Given the description of an element on the screen output the (x, y) to click on. 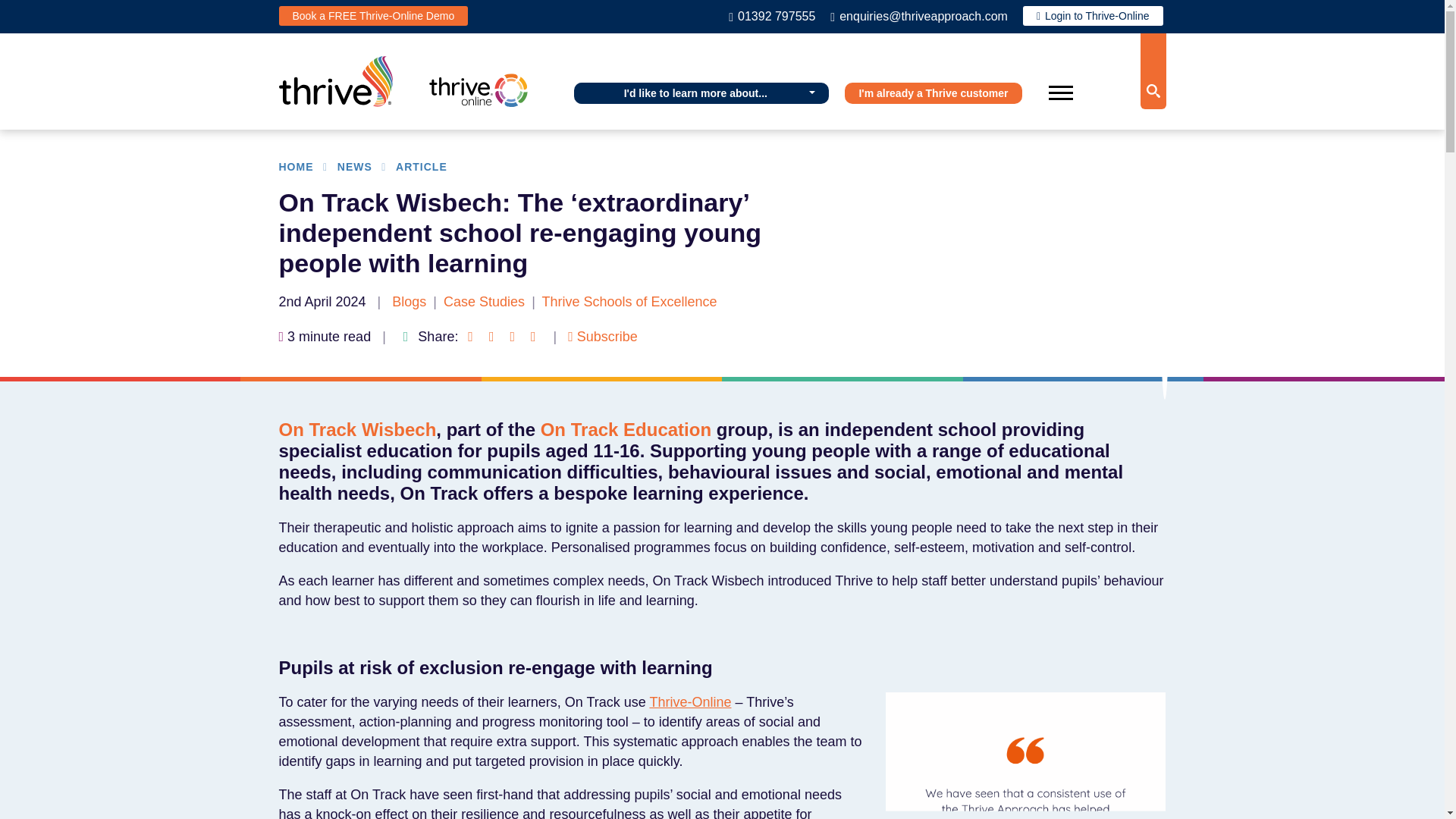
Share on Facebook (470, 336)
Share by email (532, 336)
Share on LinkedIn (491, 336)
01392 797555 (772, 15)
Book a FREE Thrive-Online Demo (373, 15)
I'd like to learn more about... (701, 93)
Login to Thrive-Online (1093, 15)
Share on Twitter (512, 336)
I'm already a Thrive customer (933, 93)
